Given the description of an element on the screen output the (x, y) to click on. 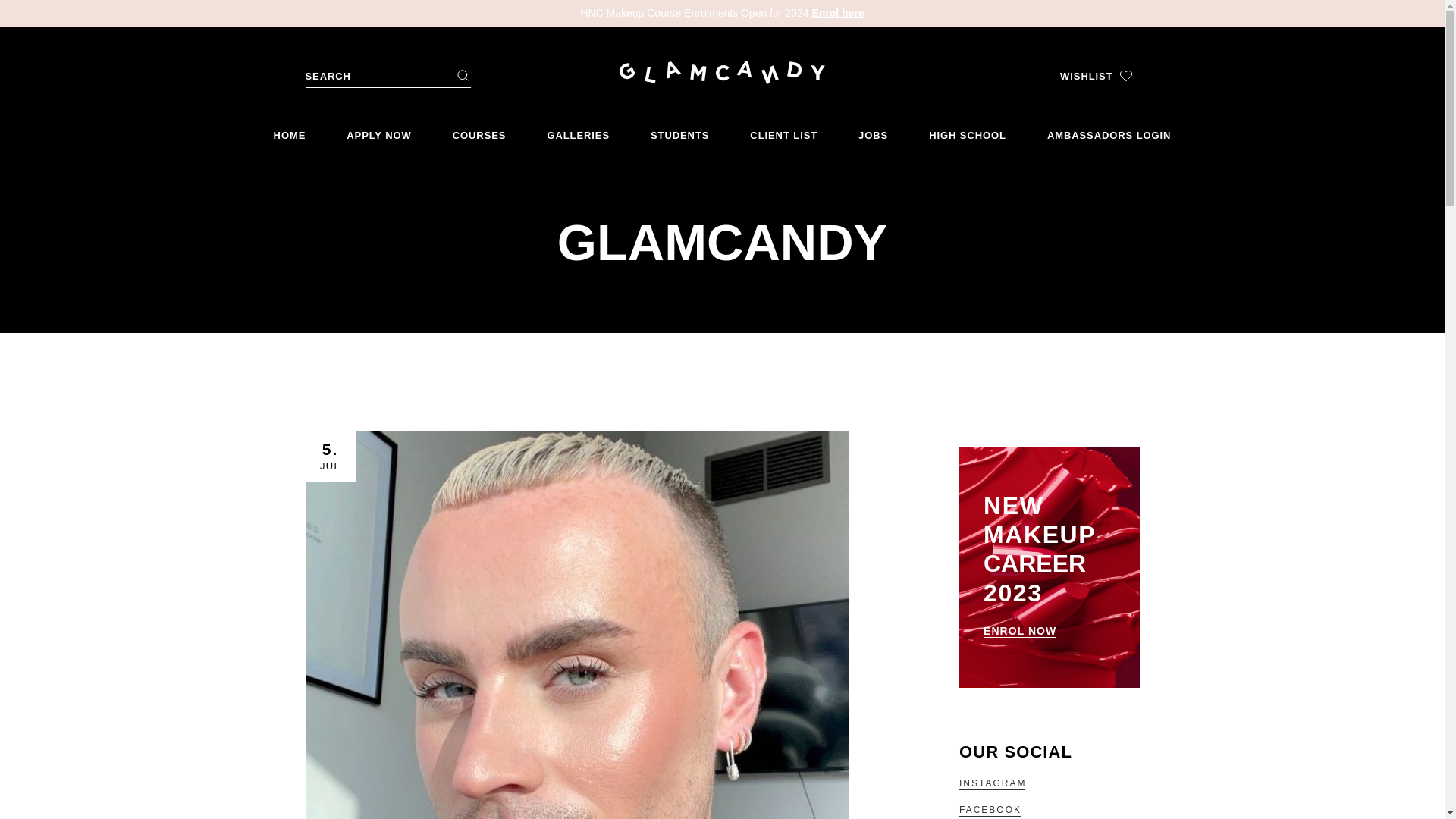
JOBS (873, 129)
APPLY NOW (379, 129)
COURSES (479, 129)
Enrol here (836, 12)
AMBASSADORS LOGIN (1109, 129)
HIGH SCHOOL (967, 129)
CLIENT LIST (782, 129)
GALLERIES (578, 129)
HOME (289, 129)
STUDENTS (679, 129)
GlamCandy logo (722, 72)
WISHLIST (1095, 74)
